Given the description of an element on the screen output the (x, y) to click on. 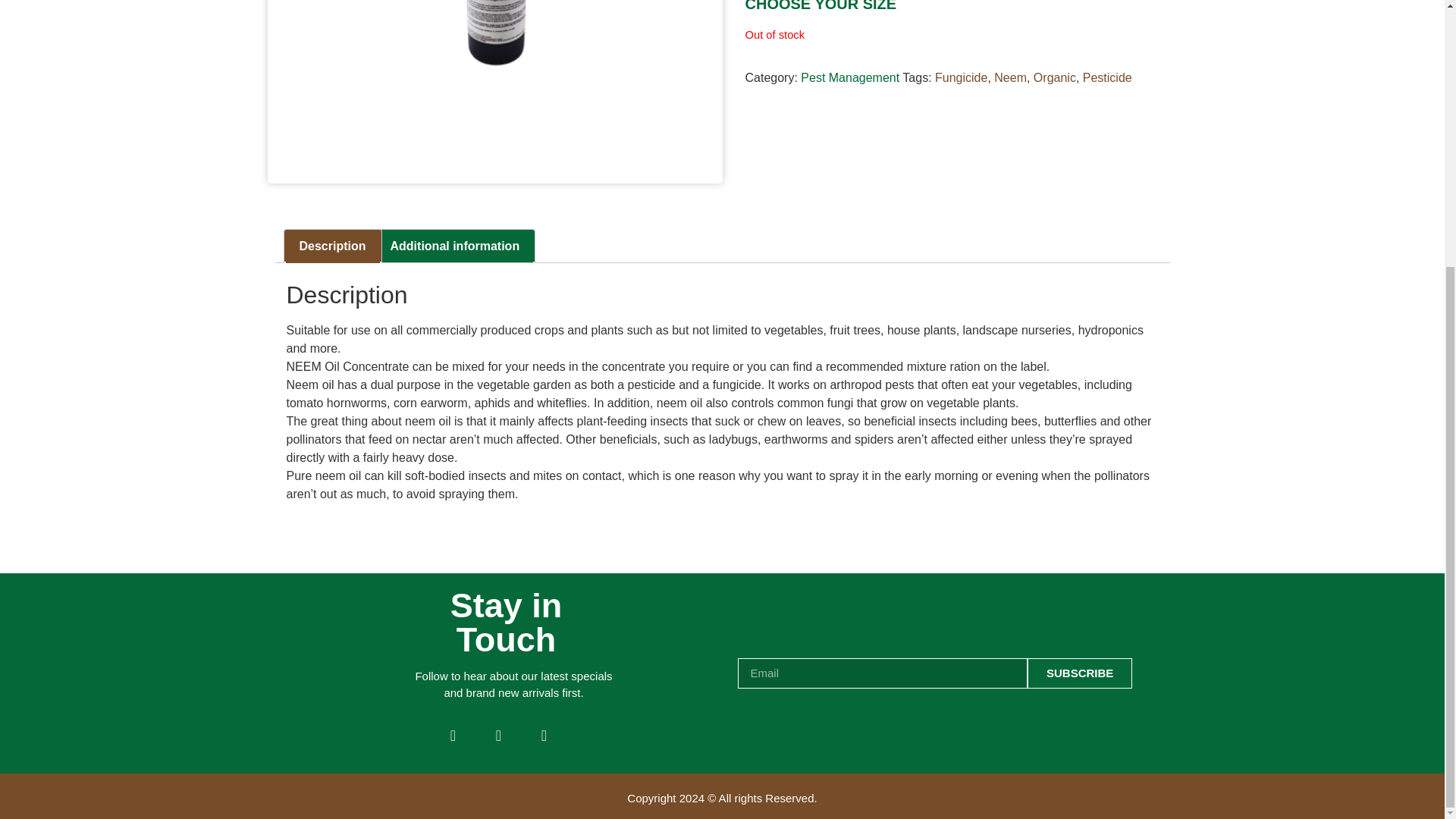
CALRO (494, 75)
